Given the description of an element on the screen output the (x, y) to click on. 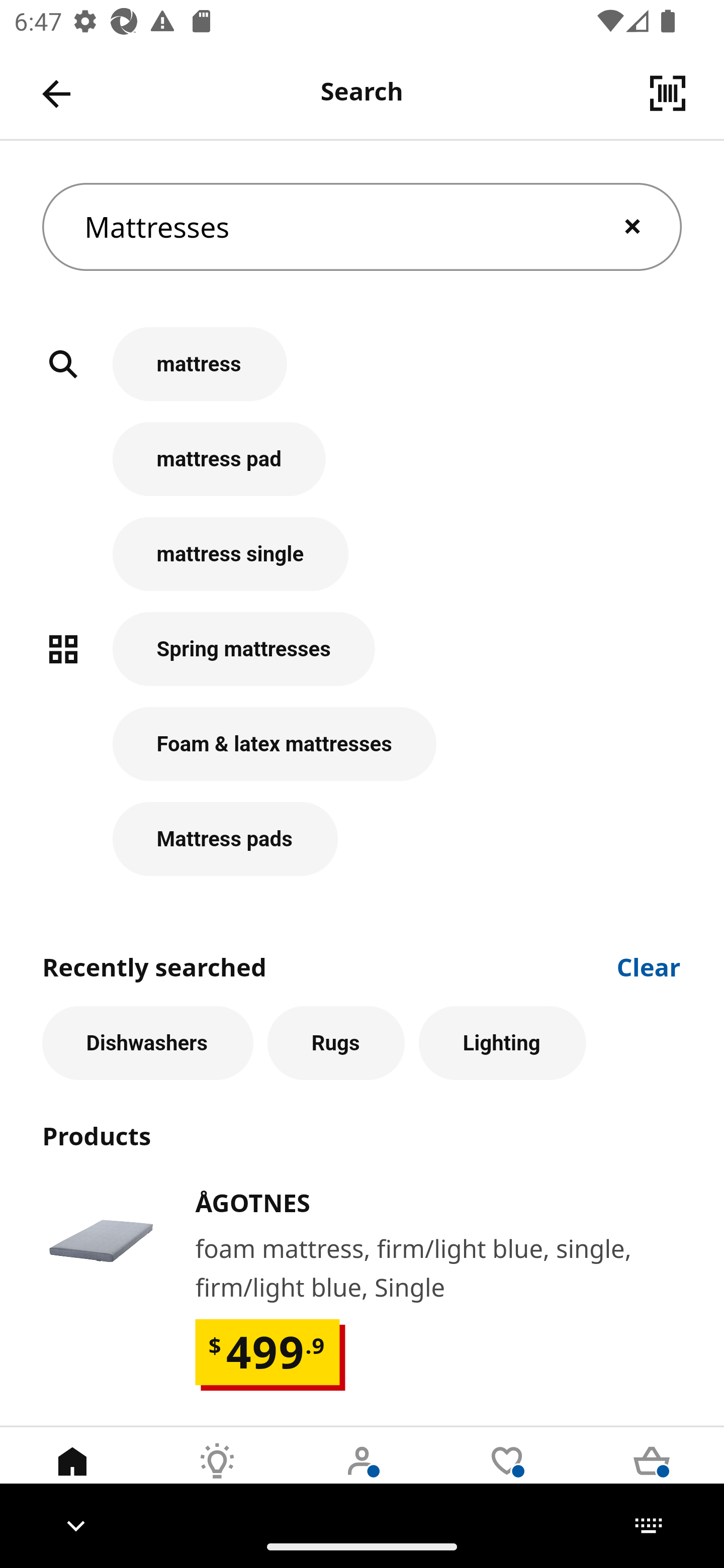
Mattresses (361, 227)
mattress (361, 374)
mattress pad (361, 469)
mattress single (361, 564)
Spring mattresses (361, 659)
Foam & latex mattresses (361, 754)
Mattress pads (361, 839)
Clear (649, 965)
Dishwashers (147, 1043)
Rugs (335, 1043)
Lighting (502, 1043)
Home
Tab 1 of 5 (72, 1476)
Inspirations
Tab 2 of 5 (216, 1476)
User
Tab 3 of 5 (361, 1476)
Wishlist
Tab 4 of 5 (506, 1476)
Cart
Tab 5 of 5 (651, 1476)
